Given the description of an element on the screen output the (x, y) to click on. 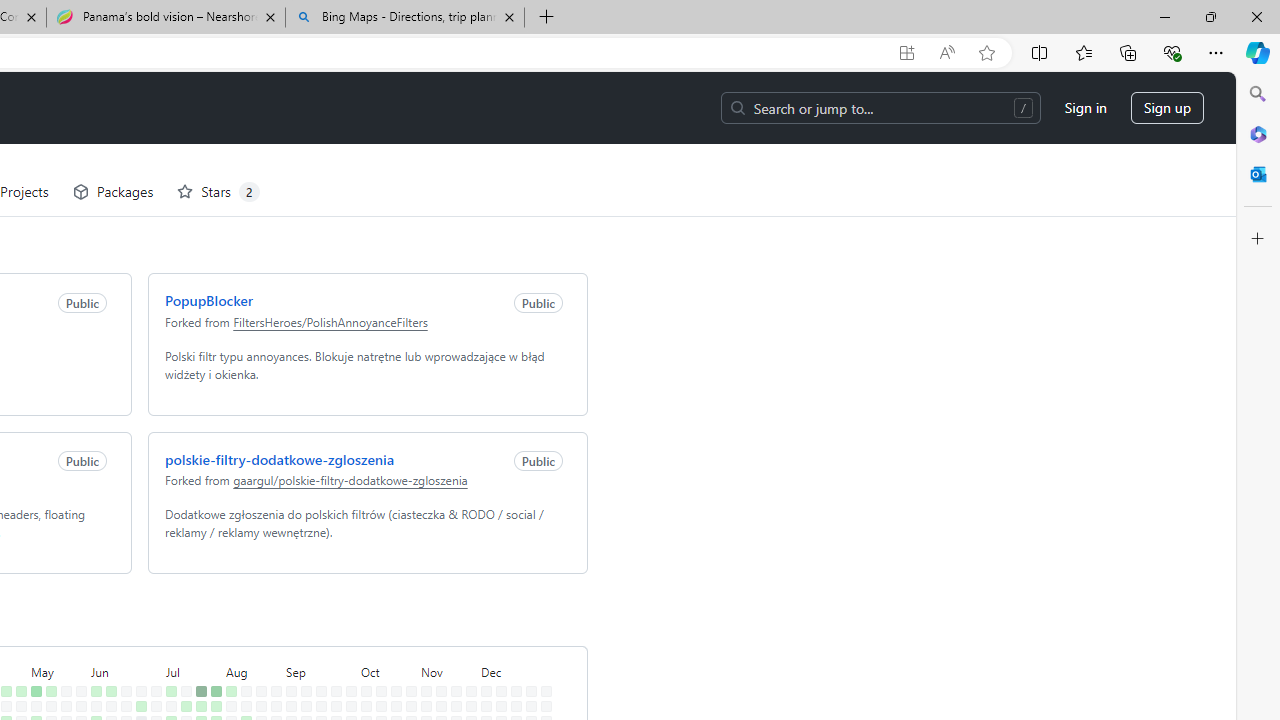
No contributions on December 10th. (497, 649)
No contributions on December 19th. (512, 678)
No contributions on October 27th. (407, 619)
June (122, 598)
No contributions on November 10th. (437, 619)
No contributions on August 16th. (242, 694)
No contributions on November 13th. (437, 664)
No contributions on August 5th. (226, 634)
No contributions on August 23rd. (257, 694)
No contributions on October 28th. (407, 634)
PopupBlocker (205, 228)
No contributions on November 24th. (467, 619)
No contributions on May 20th. (62, 634)
